Given the description of an element on the screen output the (x, y) to click on. 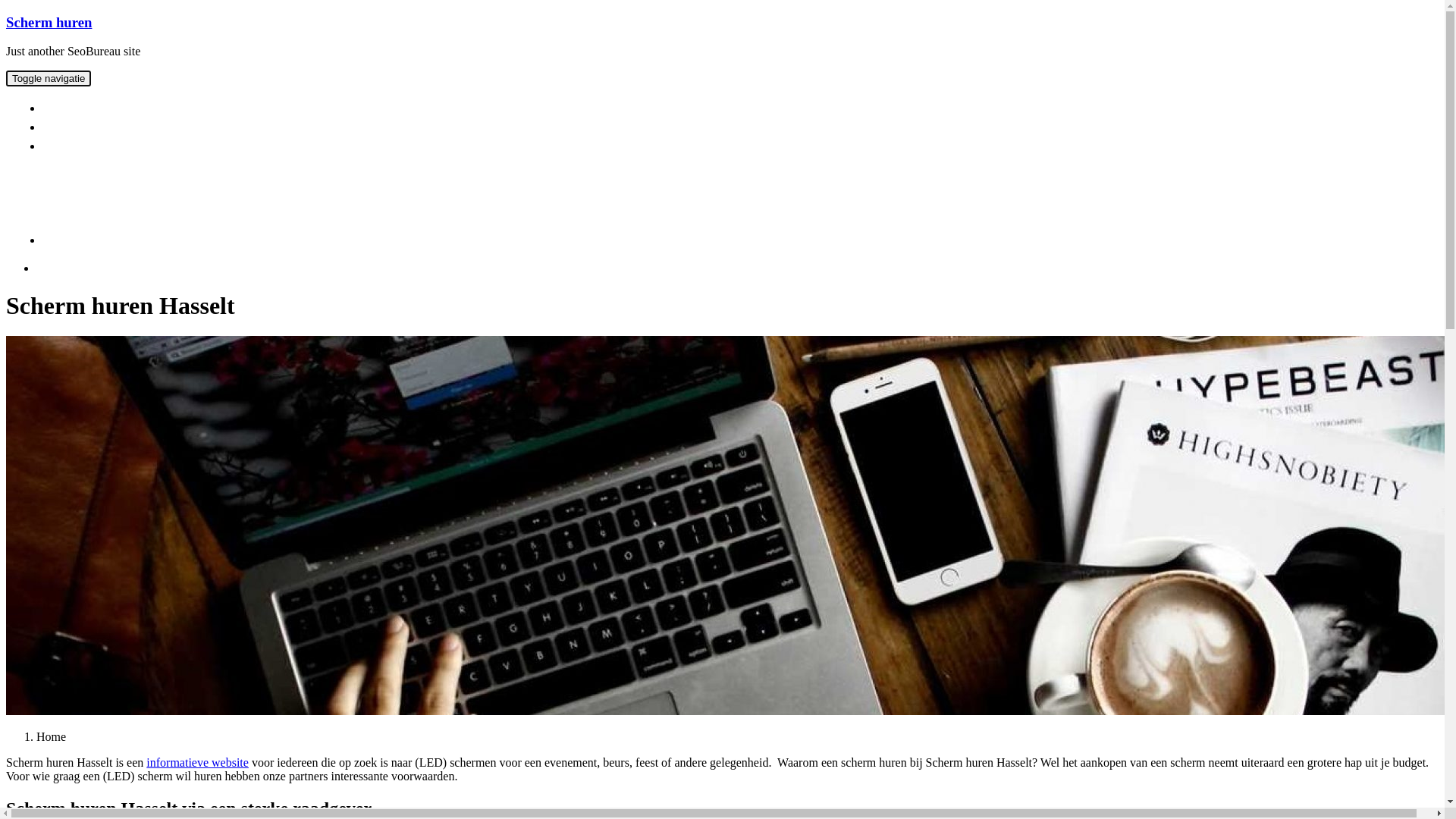
Scherm huren Element type: text (48, 22)
Ga naar de inhoud Element type: text (5, 13)
informatieve website Element type: text (197, 762)
CONTACT Element type: text (78, 126)
SCHERM HUREN HASSELT Element type: text (122, 107)
LINKS Element type: text (68, 145)
Toggle navigatie Element type: text (48, 78)
BLOG Element type: text (66, 239)
